Given the description of an element on the screen output the (x, y) to click on. 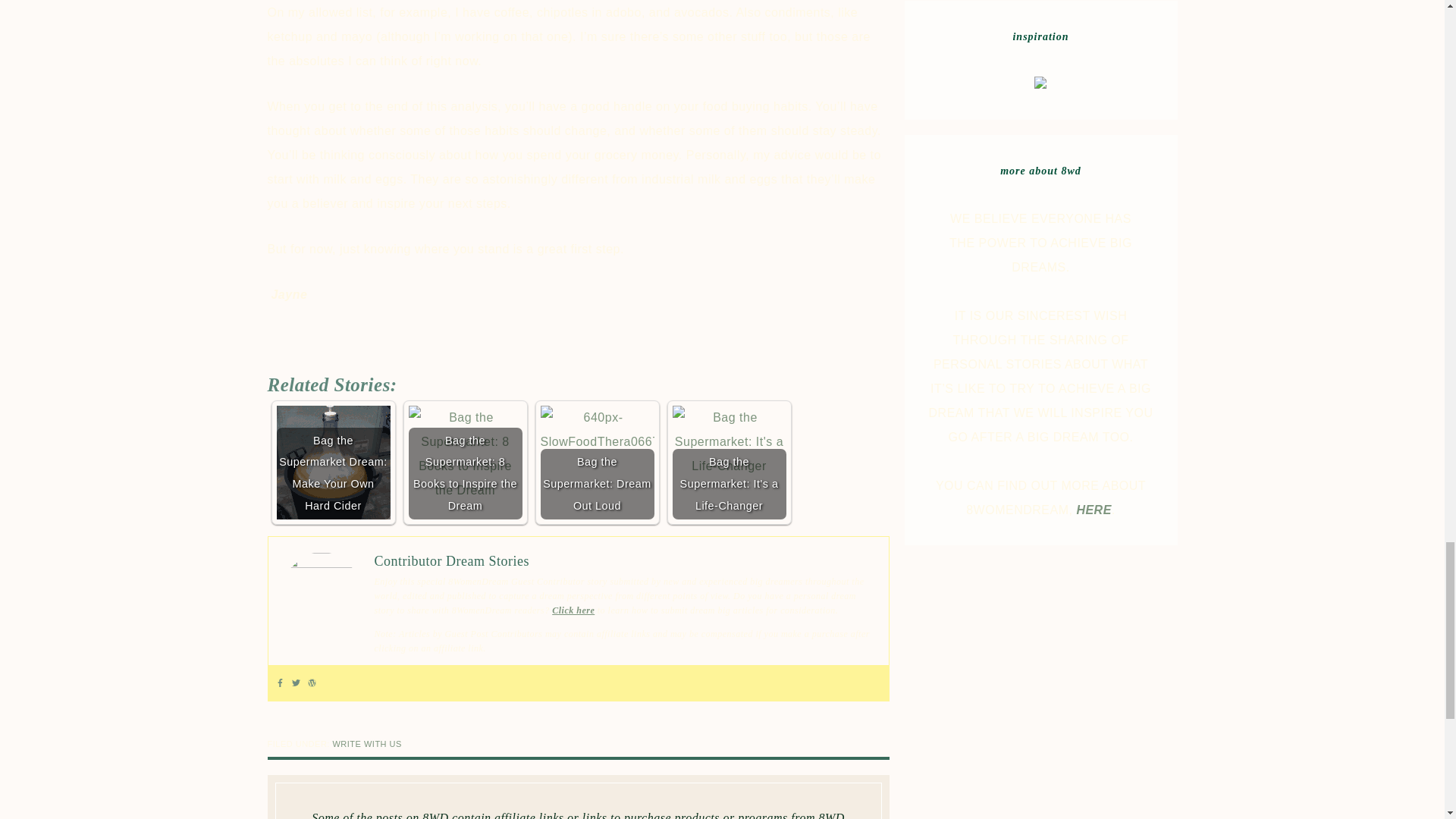
Bag the Supermarket: Dream Out Loud (596, 462)
Contributor Dream Stories (451, 560)
Bag the Supermarket: It's a Life-Changer (728, 441)
Bag the Supermarket Dream: Make Your Own Hard Cider (333, 462)
Bag the Supermarket: It's a Life-Changer (728, 462)
Bag the Supermarket: 8 Books to Inspire the Dream (464, 453)
Bag the Supermarket Dream: Make Your Own Hard Cider (333, 462)
Click here (572, 610)
Bag the Supermarket: 8 Books to Inspire the Dream (464, 462)
Bag the Supermarket: Dream Out Loud (596, 429)
